Given the description of an element on the screen output the (x, y) to click on. 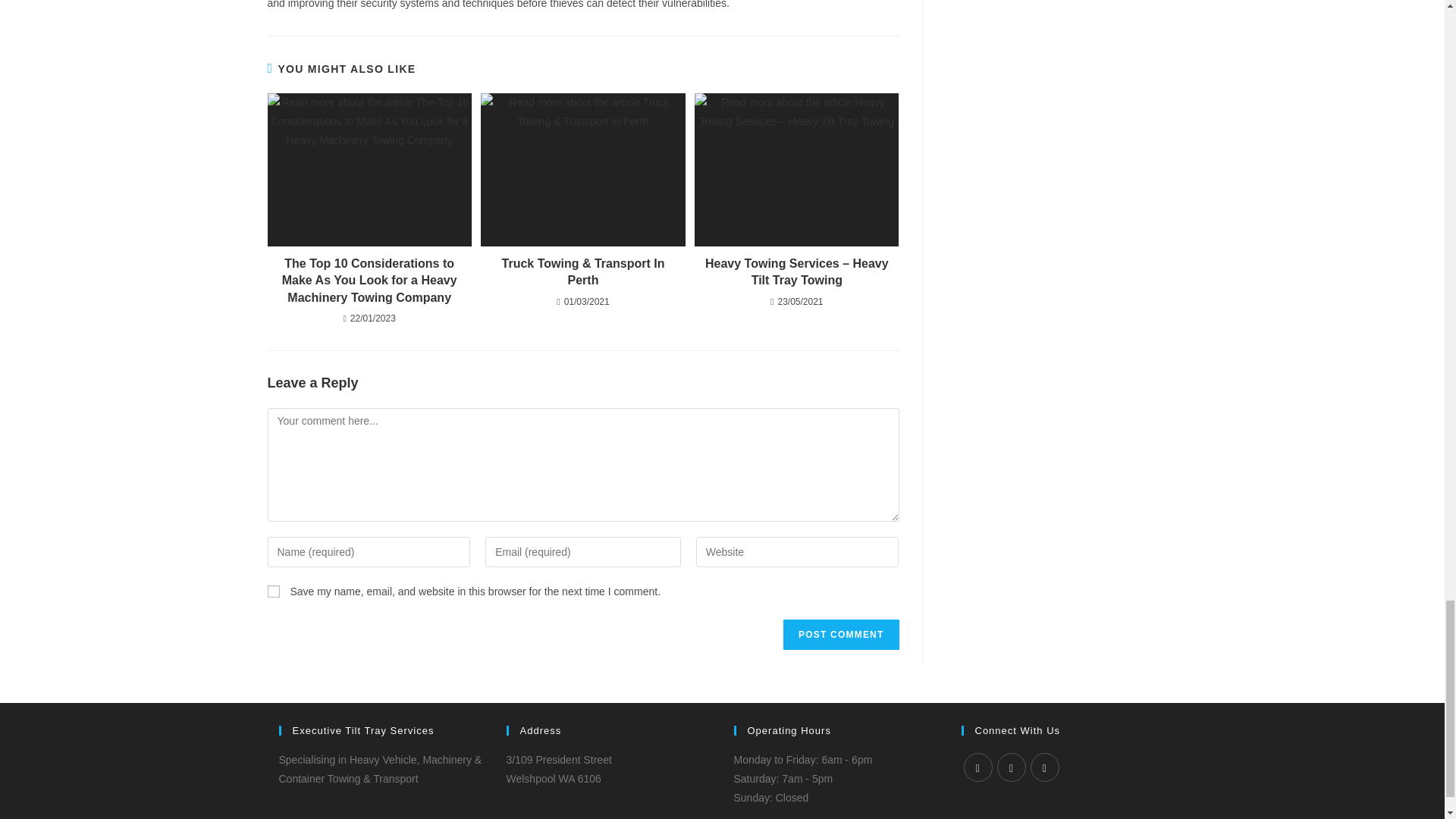
Post Comment (840, 634)
yes (272, 591)
